Given the description of an element on the screen output the (x, y) to click on. 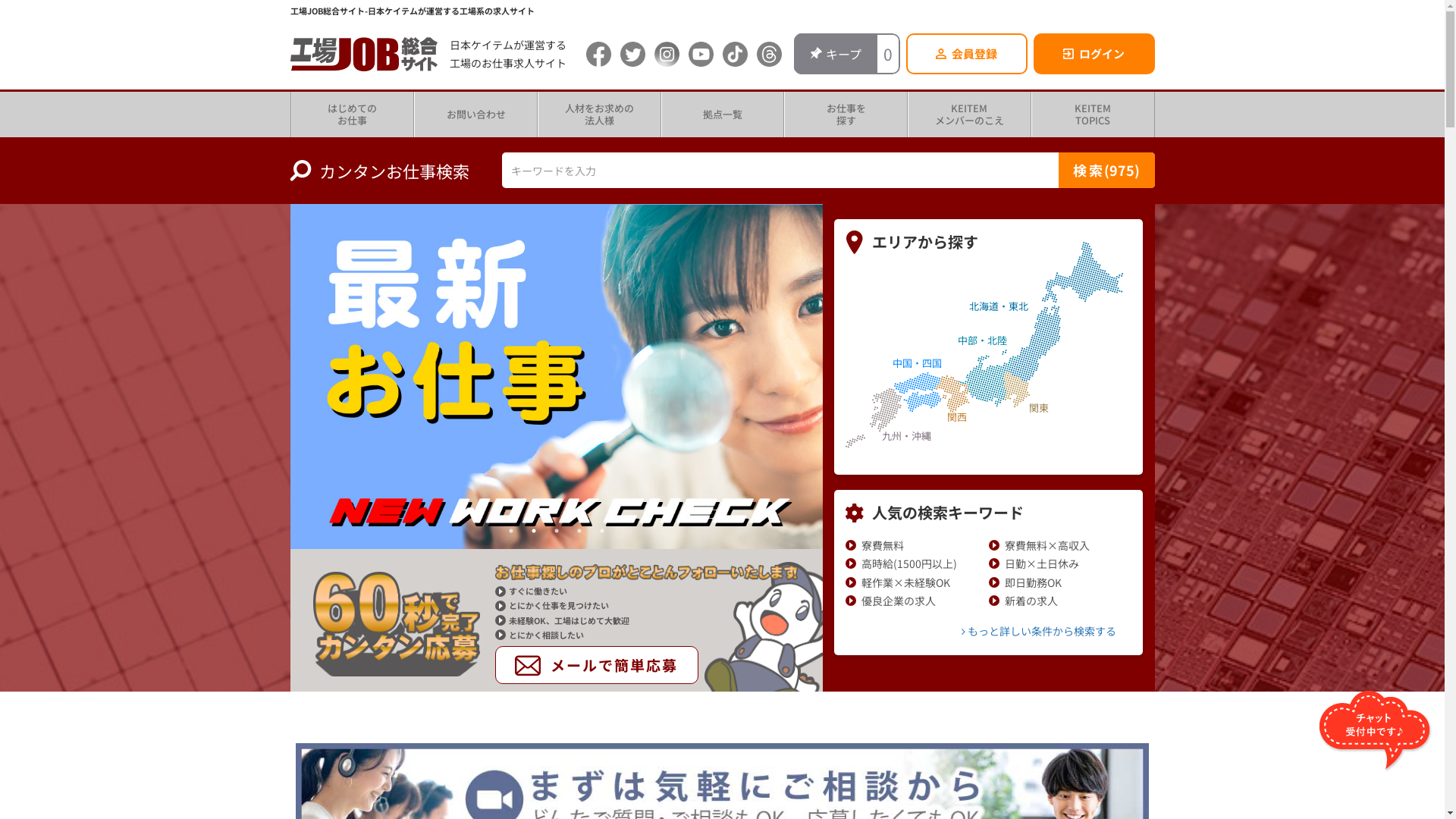
2 Element type: text (533, 530)
KEITEM
TOPICS Element type: text (1093, 114)
1 Element type: text (510, 530)
3 Element type: text (556, 530)
4 Element type: text (578, 530)
5 Element type: text (601, 530)
